Given the description of an element on the screen output the (x, y) to click on. 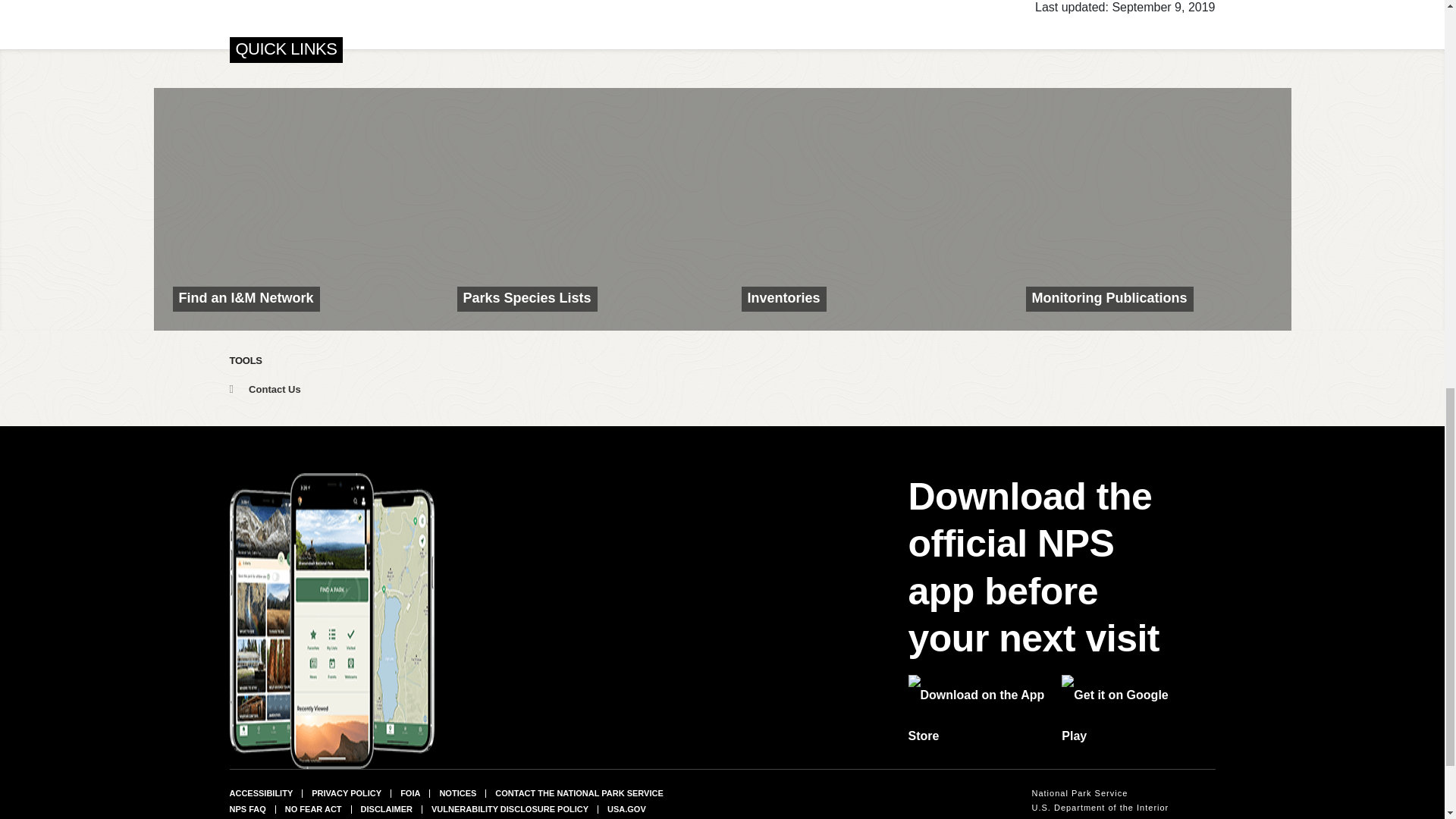
PRIVACY POLICY (346, 792)
USA.GOV (626, 809)
FOIA (410, 792)
ACCESSIBILITY (260, 792)
U.S. Department of the Interior (1099, 807)
NPS FAQ (246, 809)
CONTACT THE NATIONAL PARK SERVICE (578, 792)
Inventories (864, 208)
NOTICES (457, 792)
DISCLAIMER (386, 809)
